Given the description of an element on the screen output the (x, y) to click on. 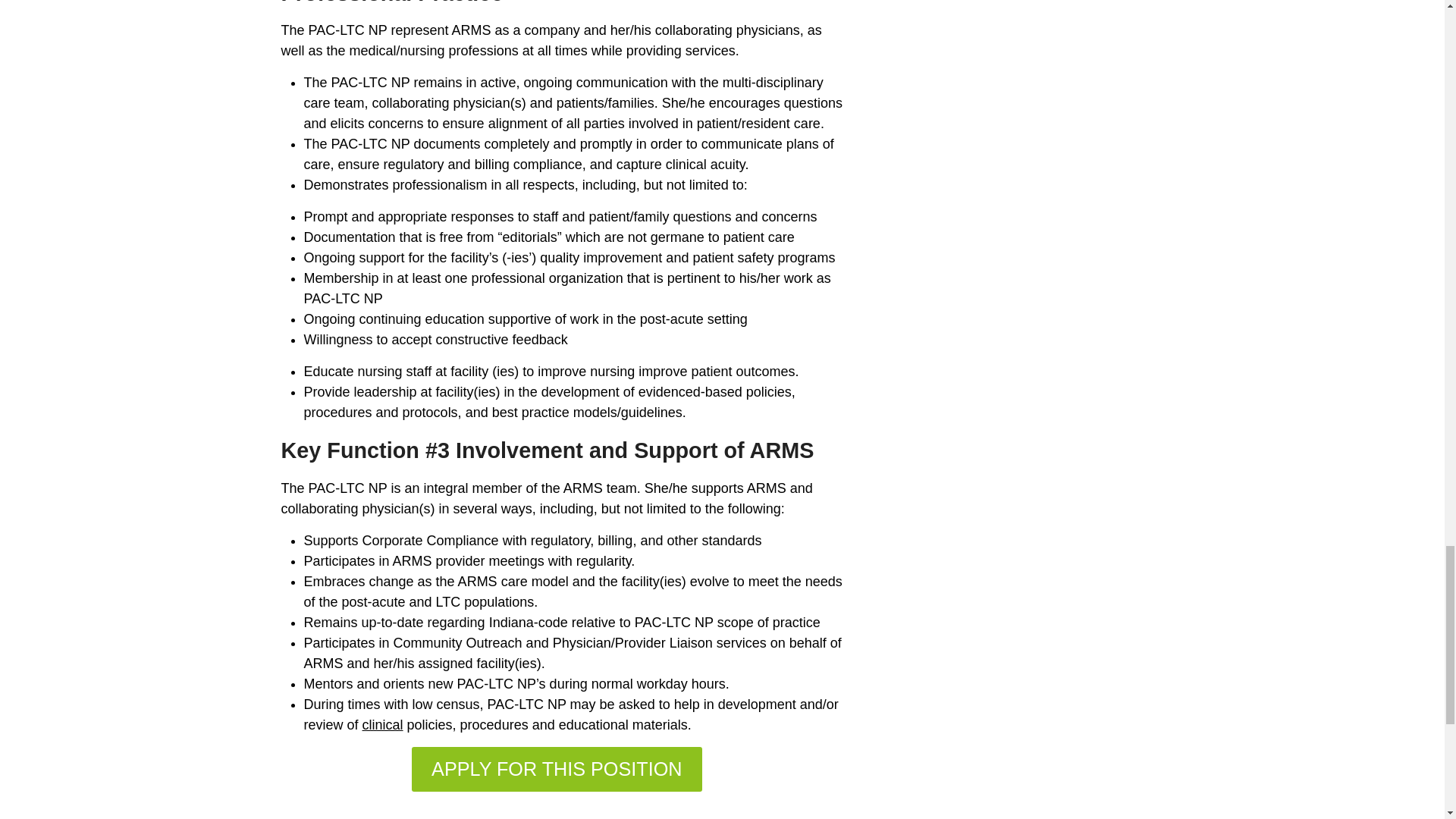
APPLY FOR THIS POSITION (556, 768)
